Given the description of an element on the screen output the (x, y) to click on. 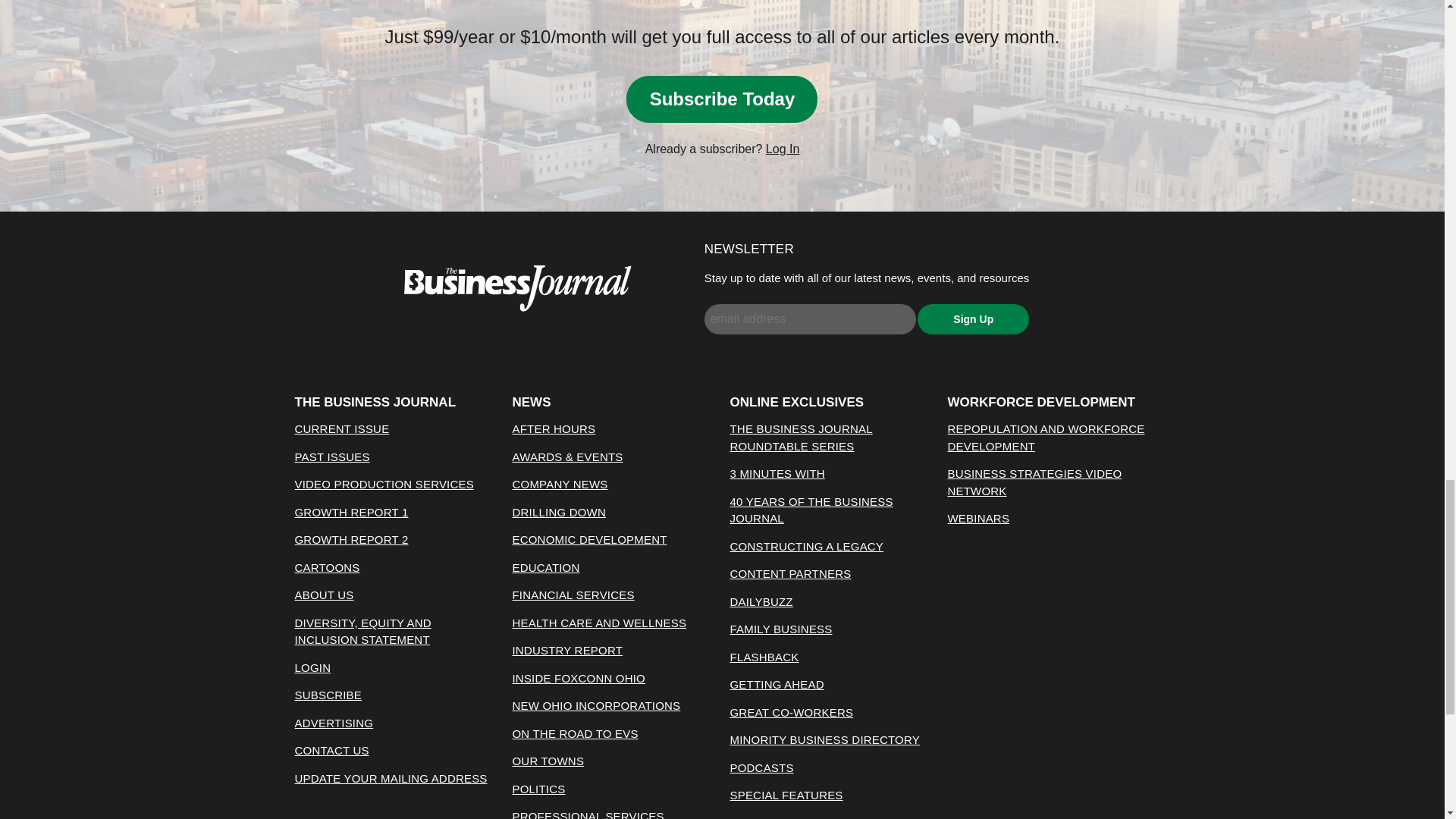
Sign Up (973, 318)
